Given the description of an element on the screen output the (x, y) to click on. 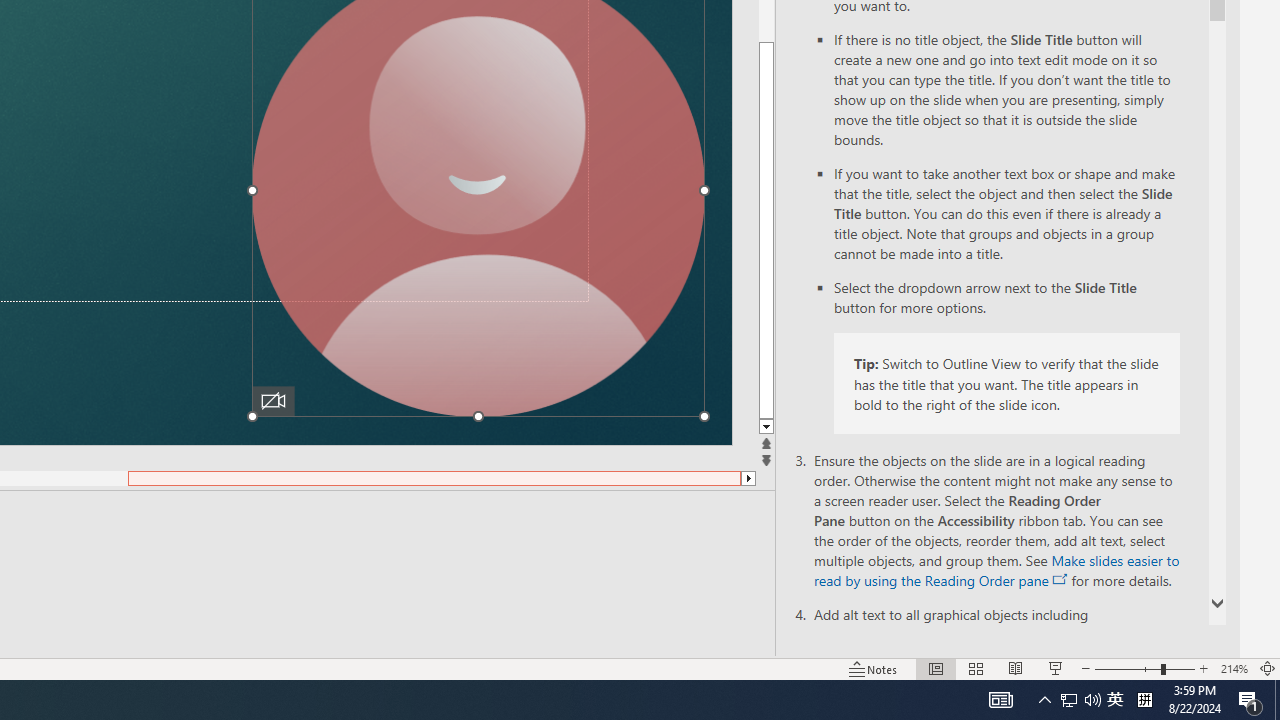
openinnewwindow (1060, 579)
Zoom 214% (1234, 668)
